Given the description of an element on the screen output the (x, y) to click on. 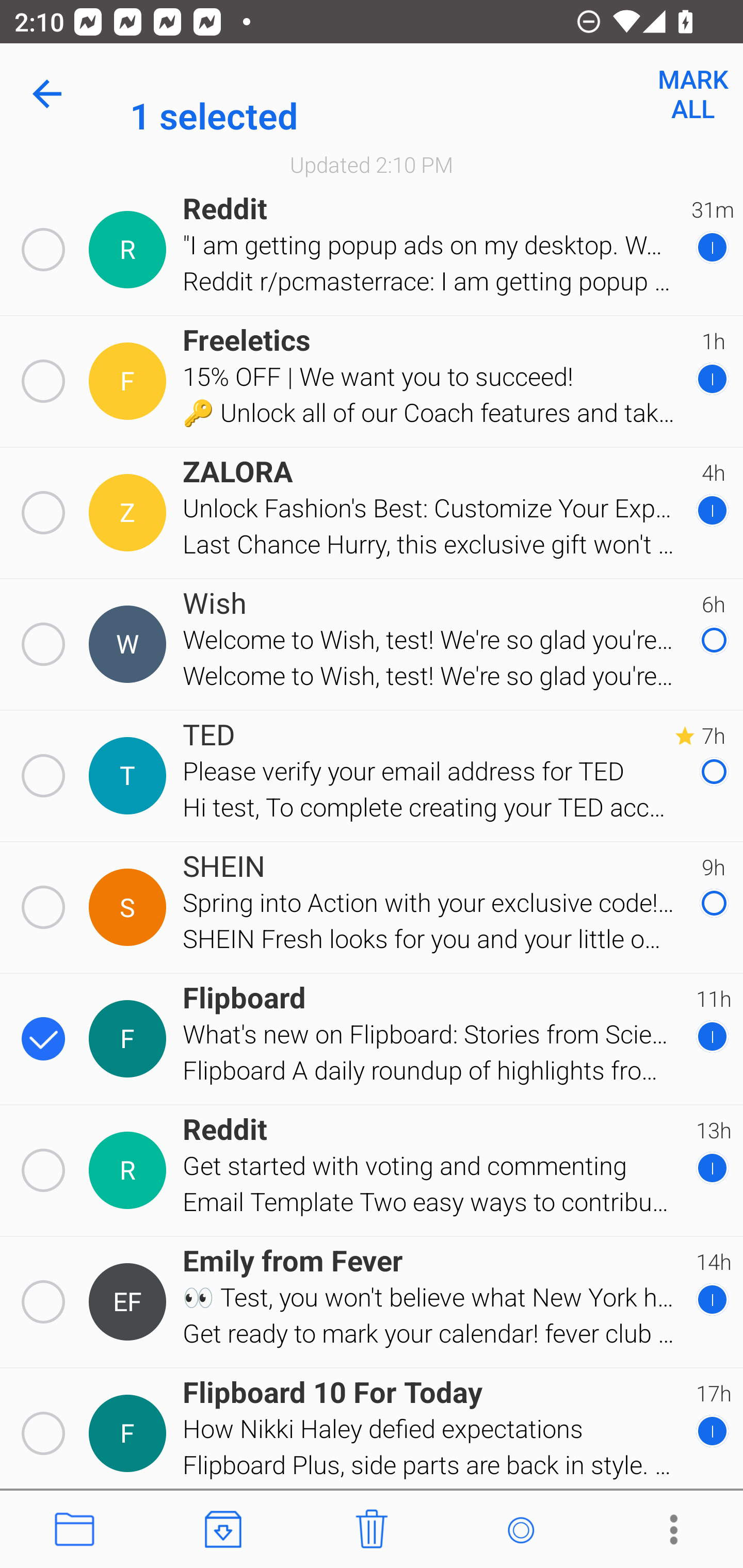
Done (50, 93)
MARK
ALL (692, 93)
Updated 2:10 PM (371, 164)
Contact Details (129, 250)
Contact Details (129, 381)
Contact Details (129, 513)
Contact Details (129, 644)
Contact Details (129, 776)
Contact Details (129, 907)
Contact Details (129, 1038)
Contact Details (129, 1170)
Contact Details (129, 1302)
Move (74, 1529)
Archive (222, 1529)
Delete (371, 1529)
Mark as Read (520, 1529)
More Options (668, 1529)
